Given the description of an element on the screen output the (x, y) to click on. 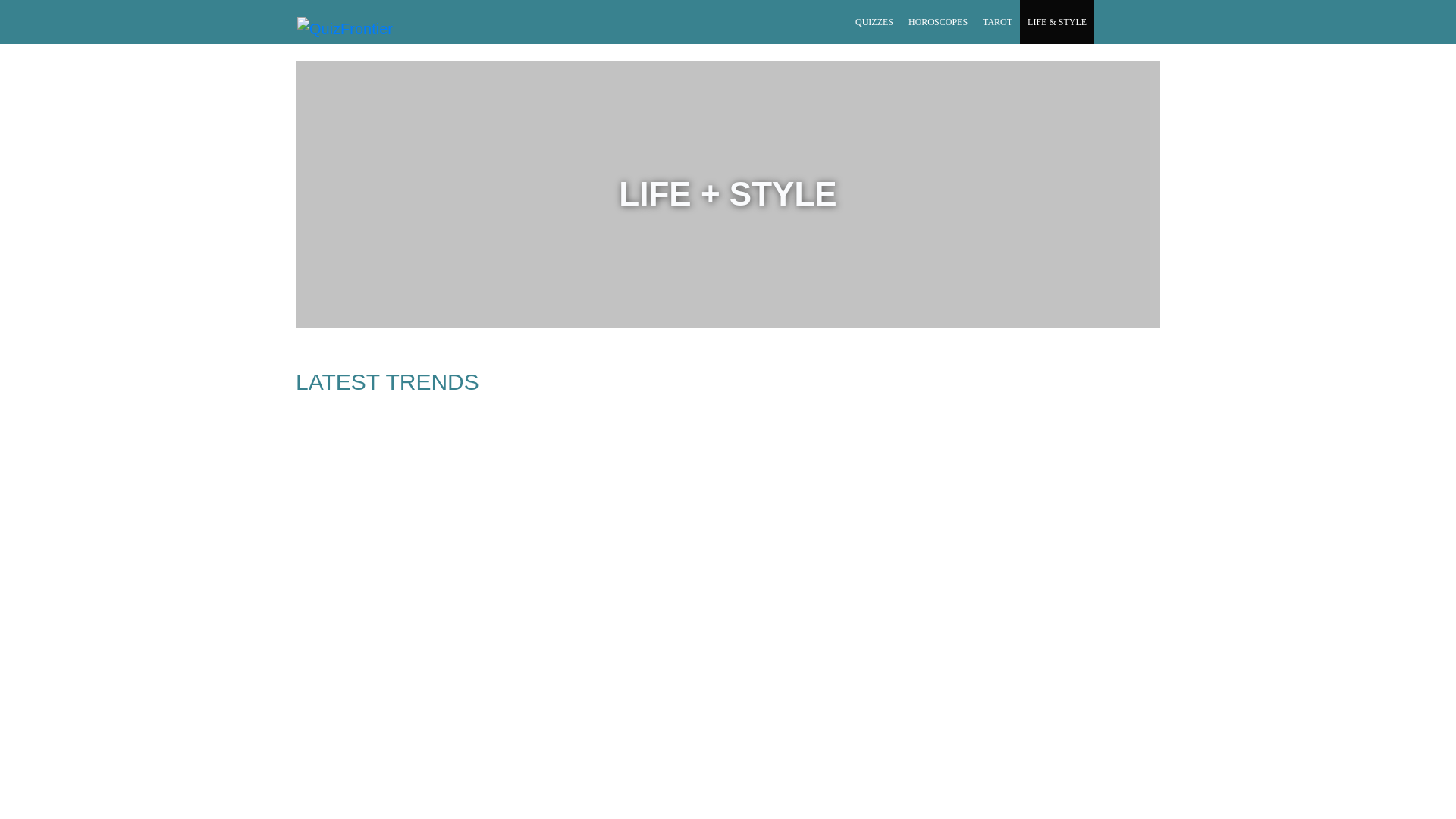
HOROSCOPES (938, 22)
QUIZZES (874, 22)
TAROT (997, 22)
QuizFrontier (345, 28)
